Given the description of an element on the screen output the (x, y) to click on. 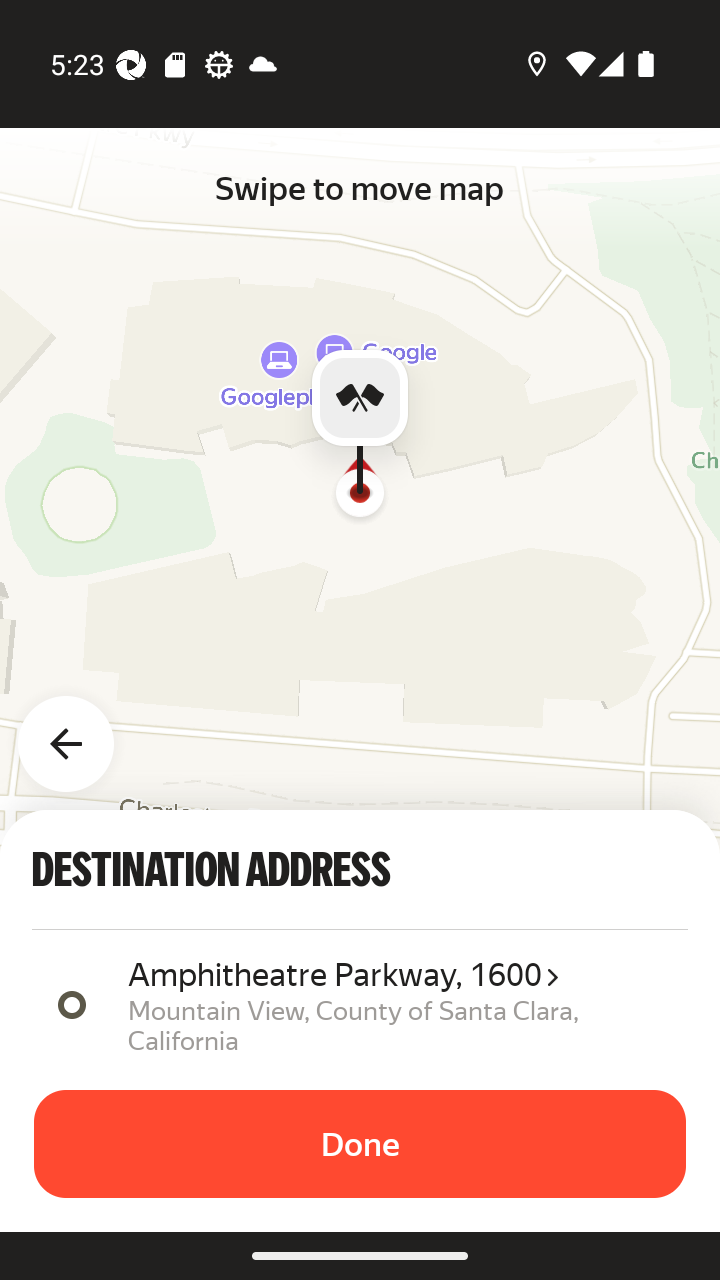
Back (78, 732)
Done (359, 1144)
